Given the description of an element on the screen output the (x, y) to click on. 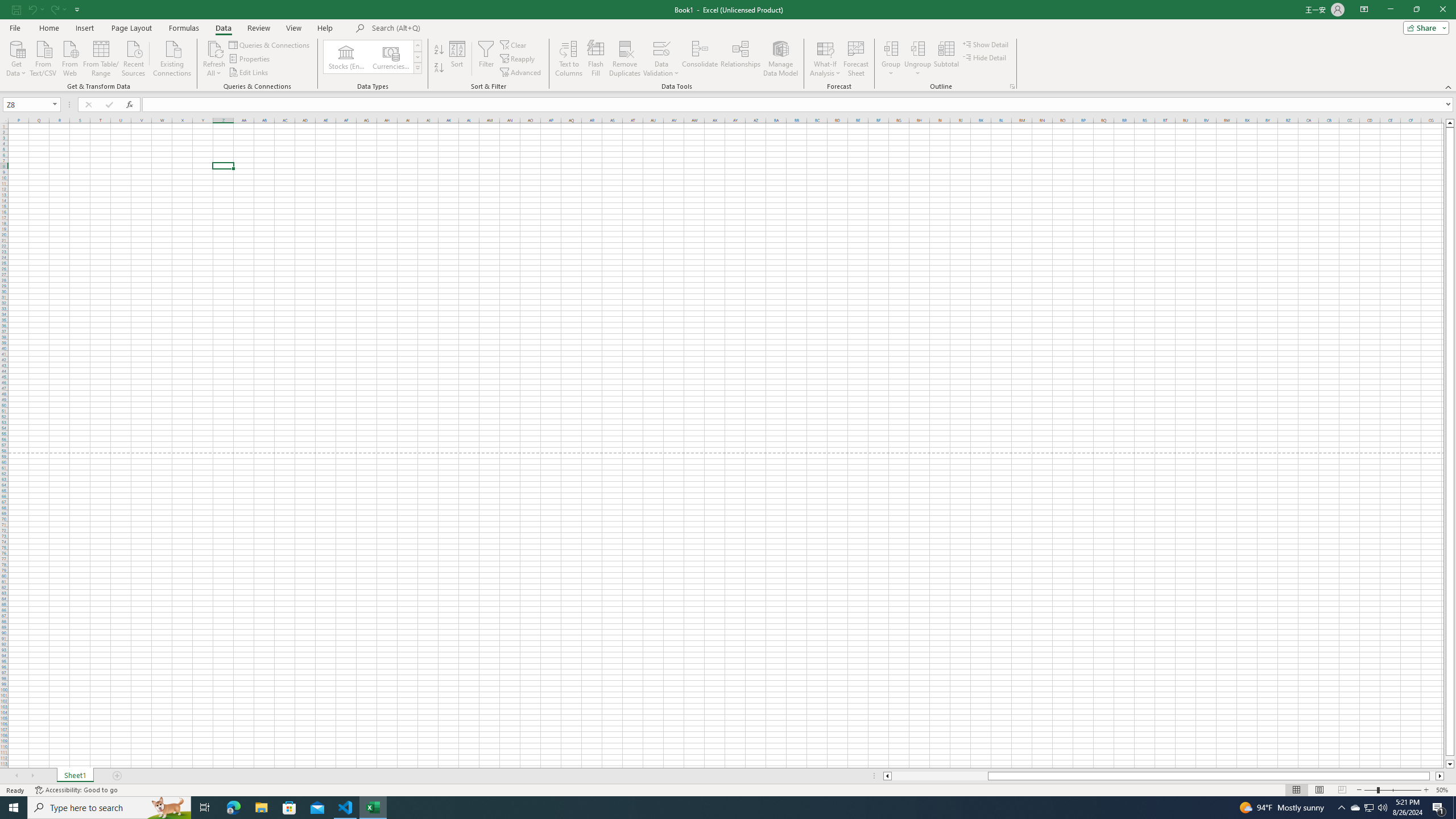
From Web (69, 57)
Queries & Connections (270, 44)
Group and Outline Settings (1011, 85)
AutomationID: ConvertToLinkedEntity (372, 56)
Formula Bar (798, 104)
Reapply (517, 58)
